Given the description of an element on the screen output the (x, y) to click on. 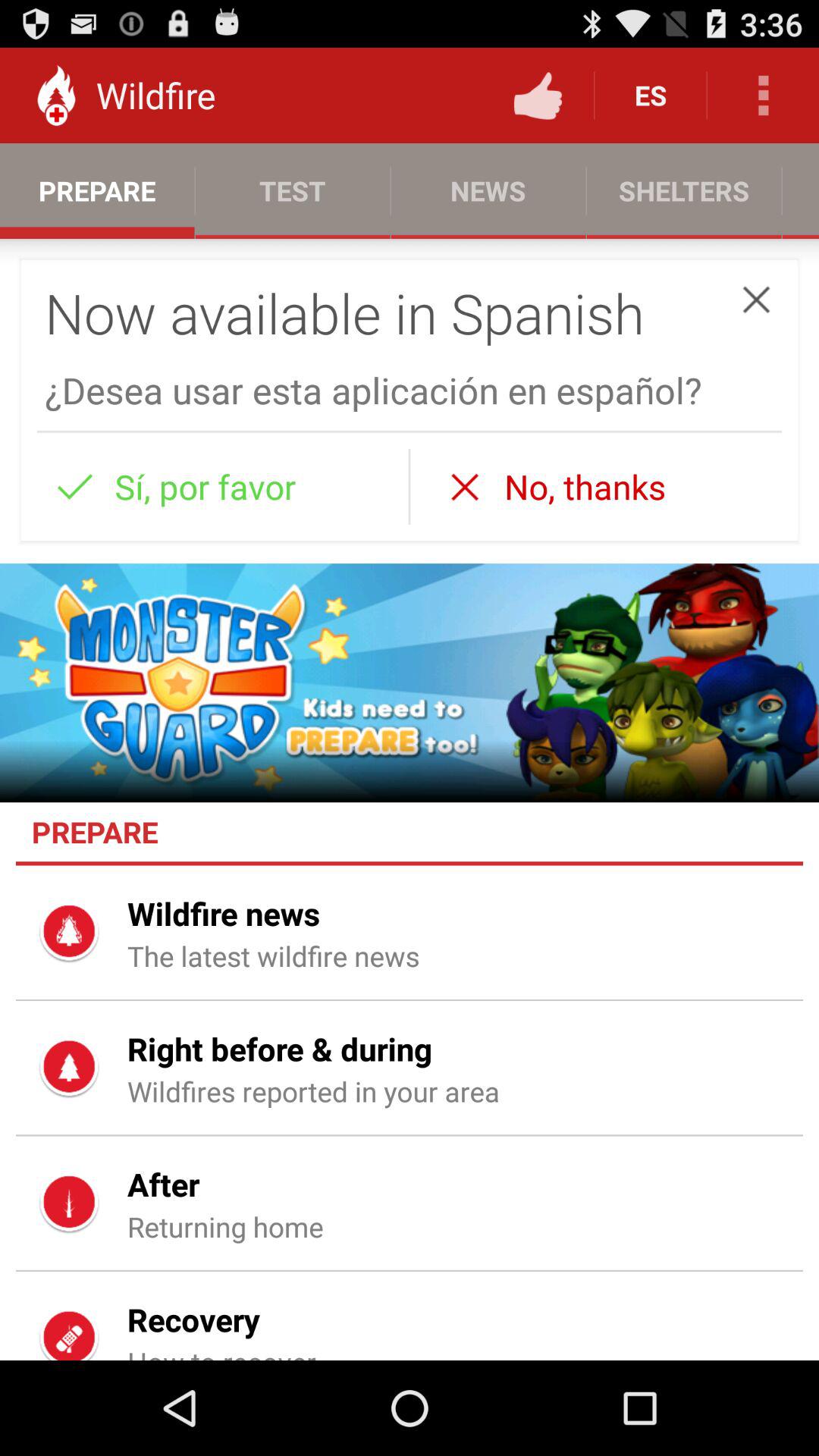
close (755, 299)
